Given the description of an element on the screen output the (x, y) to click on. 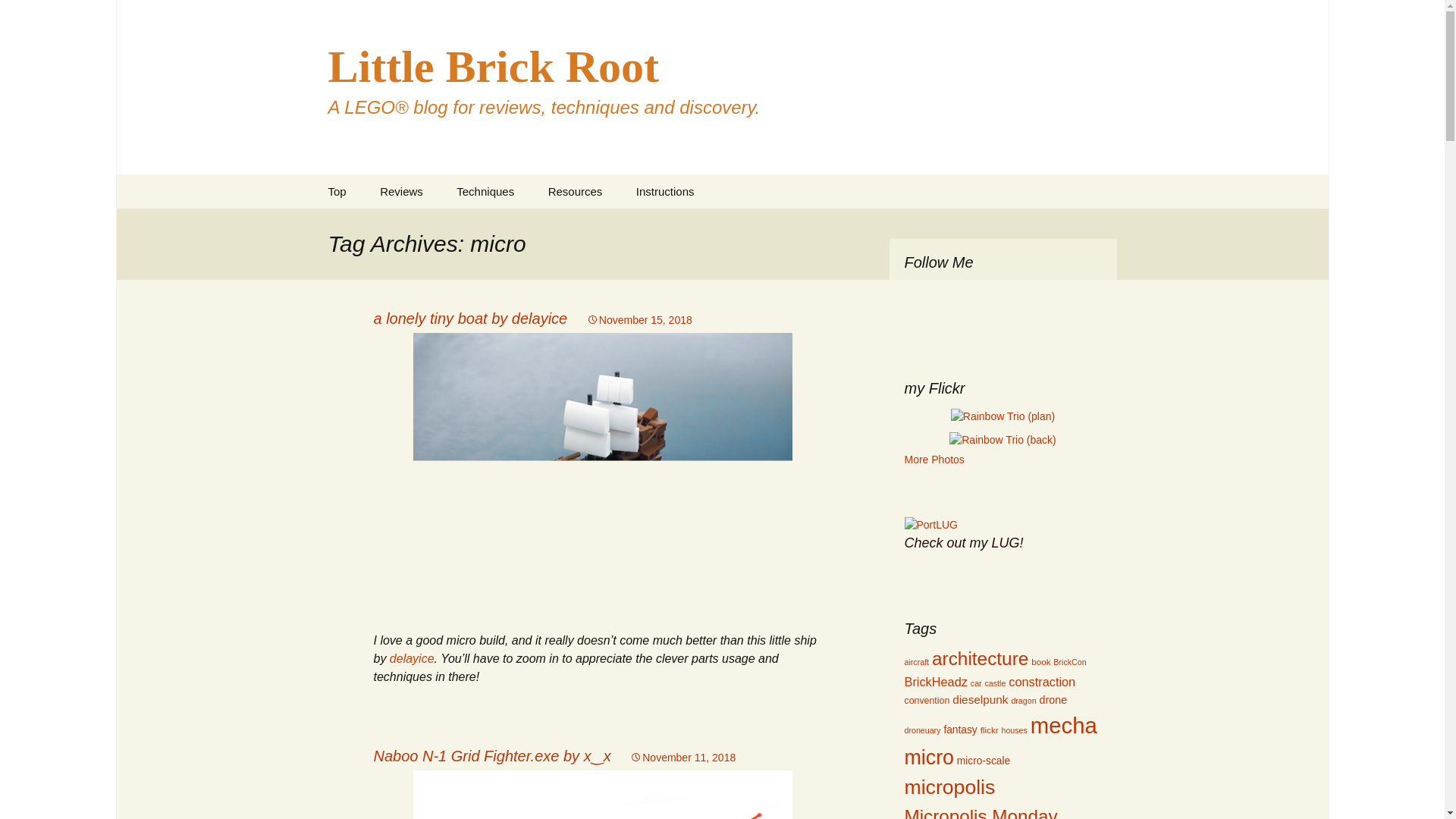
November 11, 2018 (682, 757)
Naboo N-1 Grid Fighter.exe (601, 794)
Techniques (485, 191)
Top (337, 191)
Permalink to a lonely tiny boat by delayice (639, 319)
November 15, 2018 (639, 319)
a lonely tiny boat (601, 472)
a lonely tiny boat by delayice (469, 318)
Instructions (665, 191)
